Given the description of an element on the screen output the (x, y) to click on. 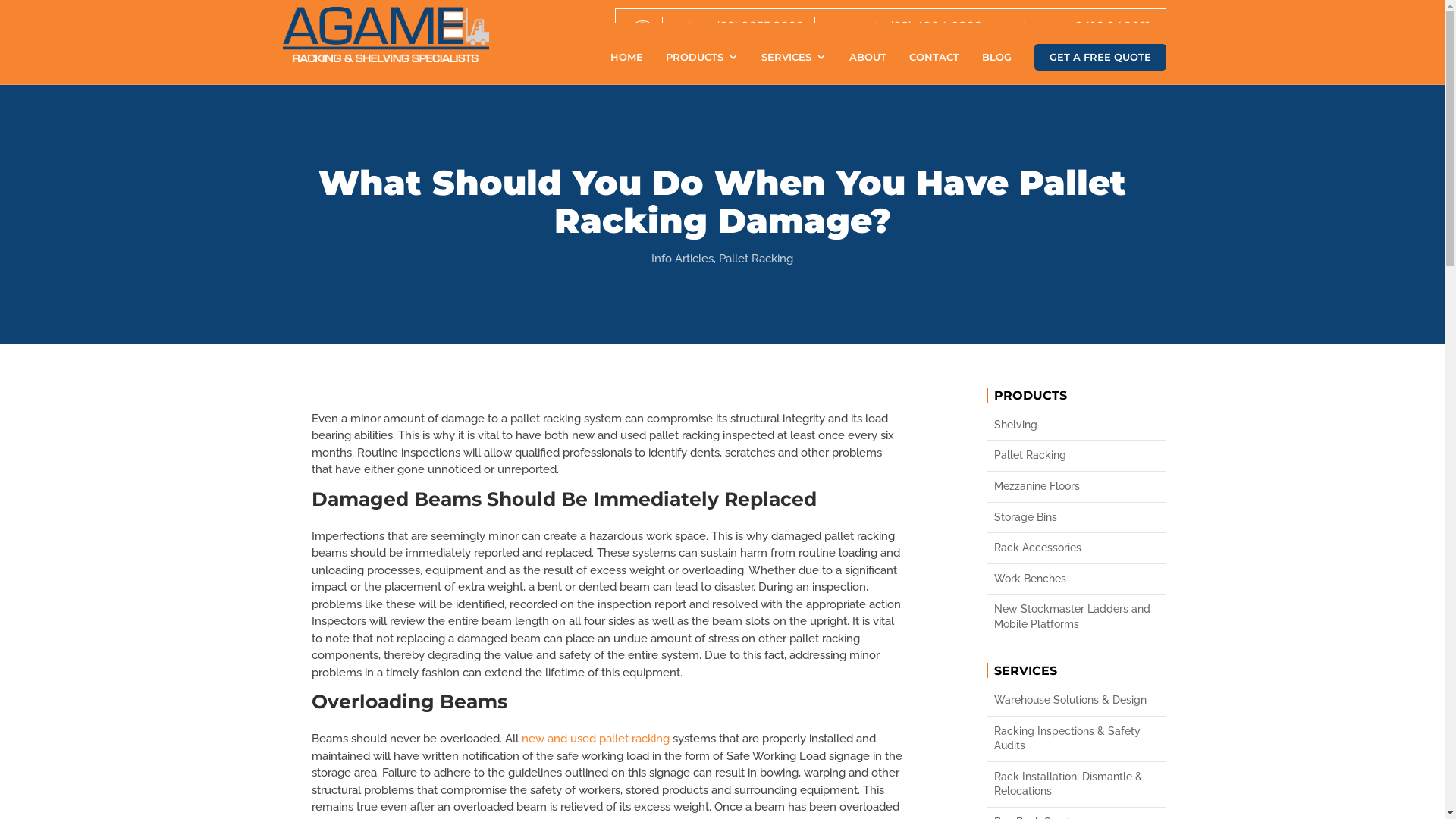
Warehouse Solutions & Design Element type: text (1075, 700)
Newscastle: Element type: text (854, 26)
Info Articles Element type: text (682, 258)
0416 046 161 Element type: text (1110, 26)
Pallet Racking Element type: text (1075, 455)
Storage Bins Element type: text (1075, 517)
Work Benches Element type: text (1075, 578)
Mezzanine Floors Element type: text (1075, 486)
Sydney: Element type: text (690, 26)
CONTACT Element type: text (933, 67)
Shelving Element type: text (1075, 425)
HOME Element type: text (625, 67)
GET A FREE QUOTE Element type: text (1100, 56)
(02) 9853 2666 Element type: text (756, 26)
Pallet Racking Element type: text (755, 258)
New Stockmaster Ladders and Mobile Platforms Element type: text (1075, 616)
BLOG Element type: text (995, 67)
Rack Installation, Dismantle & Relocations Element type: text (1075, 784)
Submit Element type: text (716, 266)
new and used pallet racking Element type: text (595, 738)
ABOUT Element type: text (867, 67)
Racking Inspections & Safety Audits Element type: text (1075, 738)
SERVICES Element type: text (793, 67)
Wollongong: Element type: text (1035, 26)
(02) 4904 0266 Element type: text (933, 26)
PRODUCTS Element type: text (701, 67)
Rack Accessories Element type: text (1075, 547)
